Given the description of an element on the screen output the (x, y) to click on. 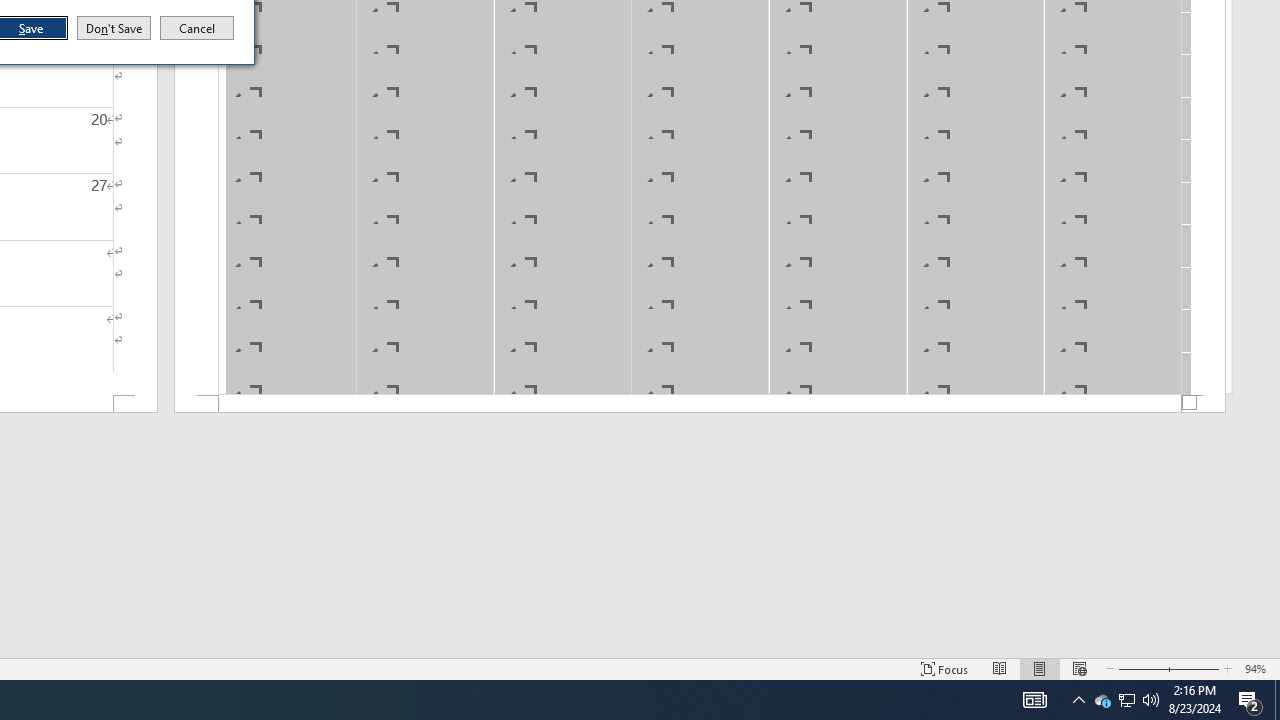
Web Layout (1079, 668)
Zoom Out (1140, 668)
AutomationID: 4105 (1034, 699)
Show desktop (1277, 699)
Focus  (944, 668)
Zoom In (1193, 668)
